Given the description of an element on the screen output the (x, y) to click on. 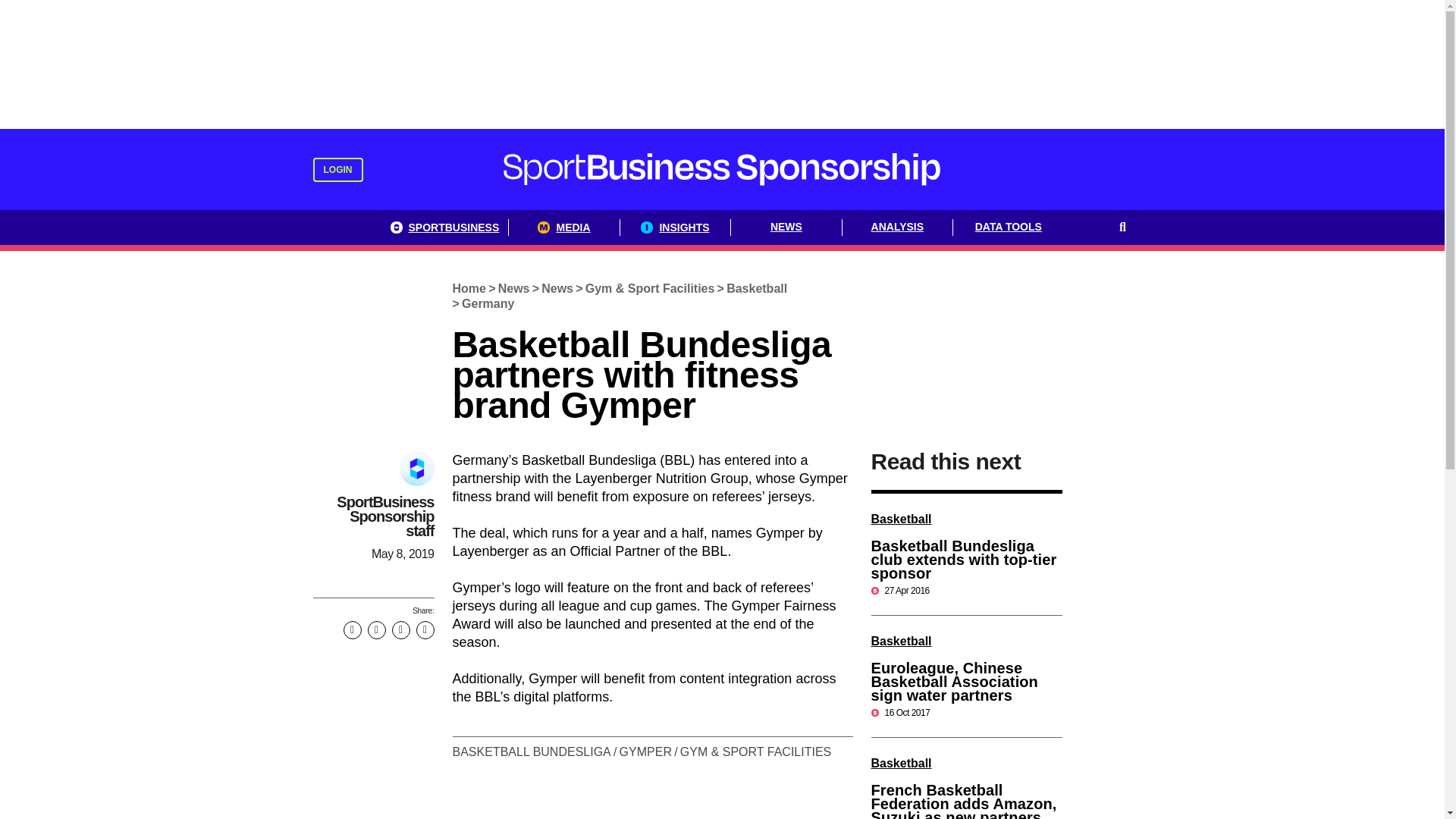
ANALYSIS (897, 227)
GYMPER (644, 751)
LOGIN (337, 169)
News (556, 288)
INSIGHTS (674, 227)
Basketball Bundesliga club extends with top-tier sponsor (963, 559)
Basketball (900, 518)
Germany (488, 304)
BASKETBALL BUNDESLIGA (531, 751)
News (513, 288)
NEWS (786, 227)
Basketball (756, 288)
Home (469, 288)
SportBusiness Sponsorship staff (384, 515)
DATA TOOLS (1008, 227)
